Given the description of an element on the screen output the (x, y) to click on. 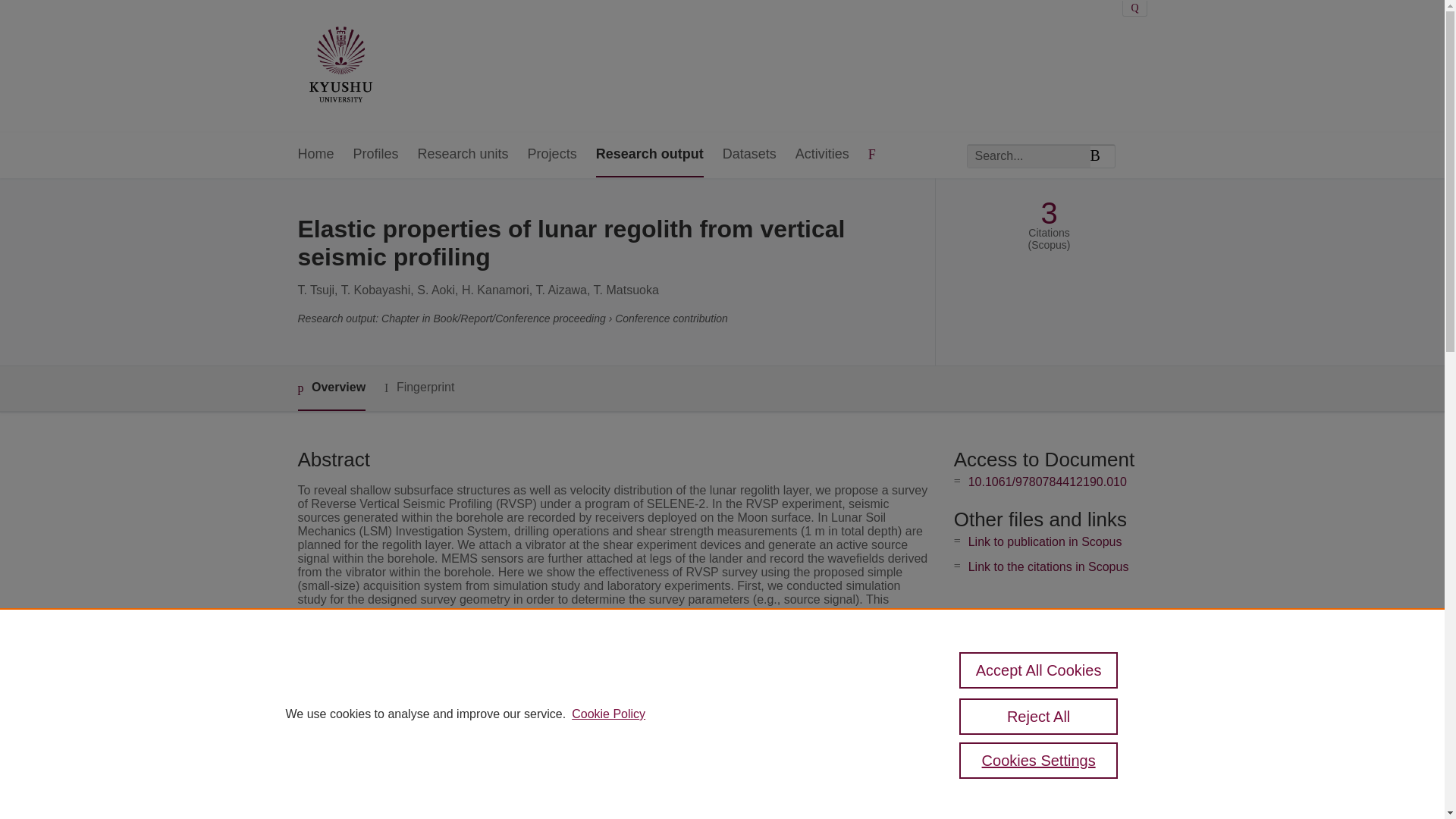
Overview (331, 388)
Projects (551, 154)
Link to the citations in Scopus (1048, 566)
Research output (649, 154)
Link to publication in Scopus (1045, 541)
Activities (821, 154)
Research units (462, 154)
Fingerprint (419, 387)
Datasets (749, 154)
Profiles (375, 154)
